Given the description of an element on the screen output the (x, y) to click on. 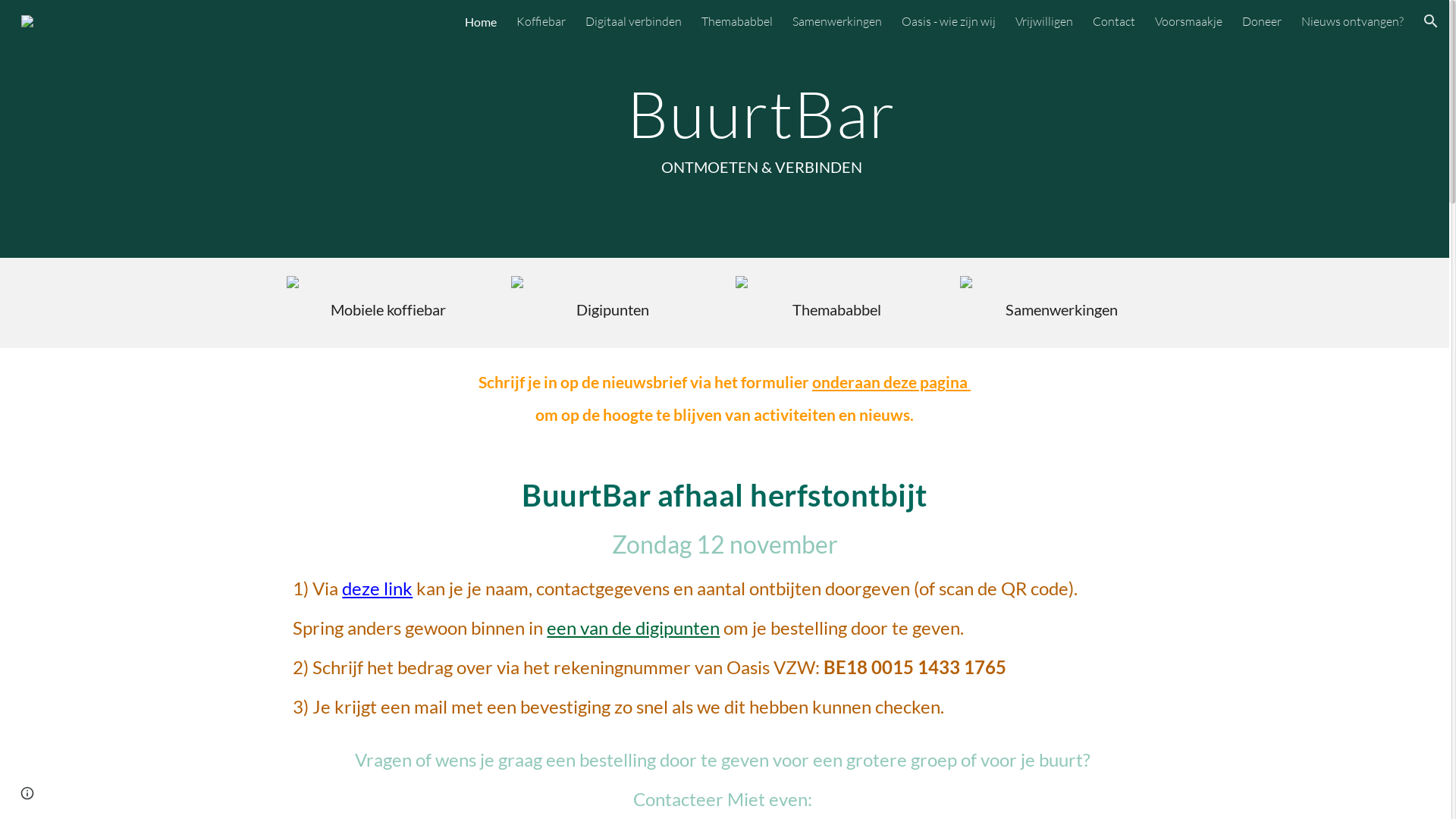
Home Element type: text (480, 20)
Doneer Element type: text (1261, 20)
Koffiebar Element type: text (540, 20)
Samenwerkingen Element type: text (836, 20)
Themababbel Element type: text (736, 20)
een van de digipunten Element type: text (632, 630)
Nieuws ontvangen? Element type: text (1352, 20)
Digitaal verbinden Element type: text (633, 20)
deze link Element type: text (377, 590)
Oasis - wie zijn wij Element type: text (948, 20)
Voorsmaakje Element type: text (1188, 20)
Contact Element type: text (1113, 20)
Vrijwilligen Element type: text (1044, 20)
